Given the description of an element on the screen output the (x, y) to click on. 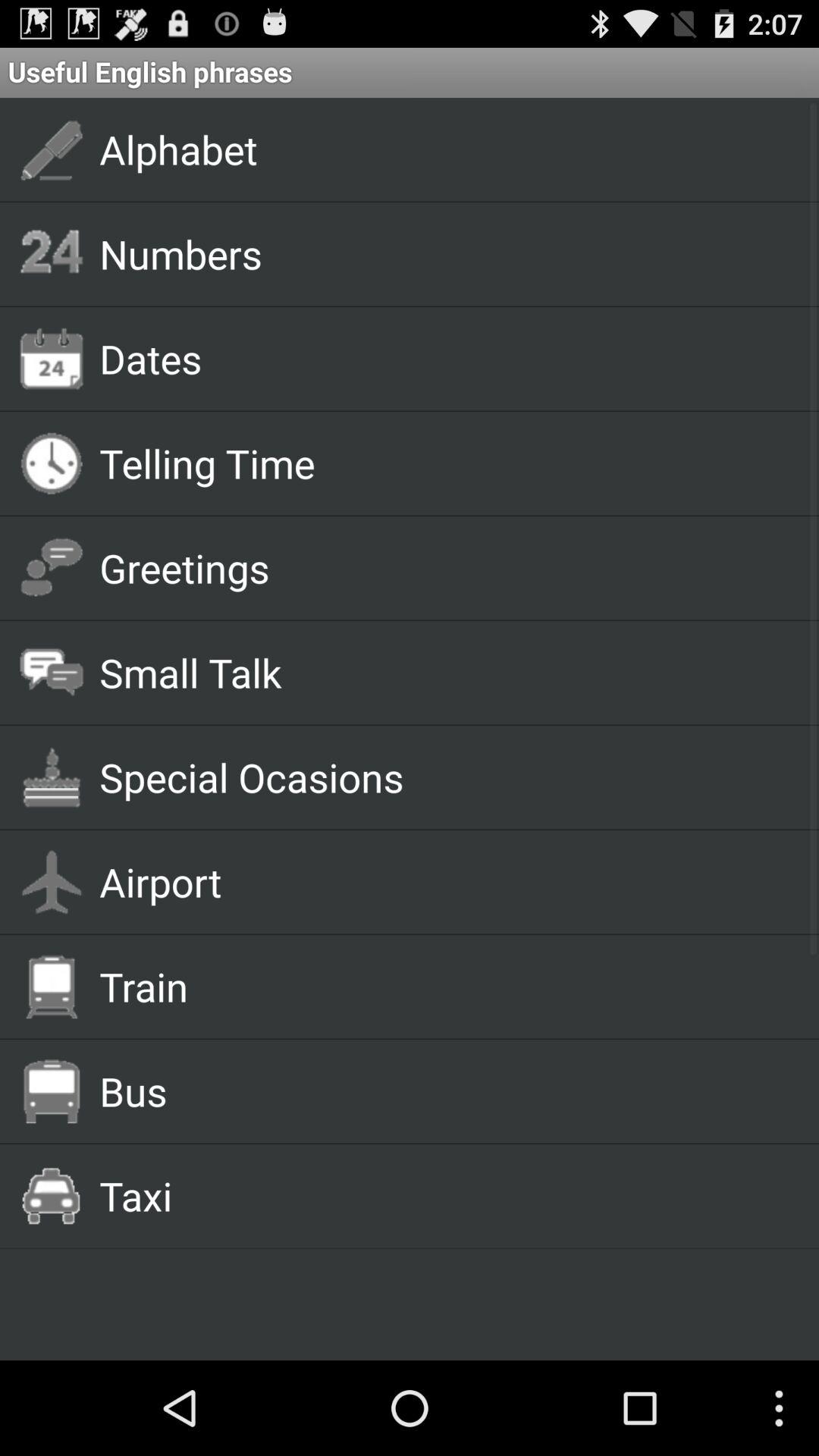
choose the small talk app (441, 672)
